Given the description of an element on the screen output the (x, y) to click on. 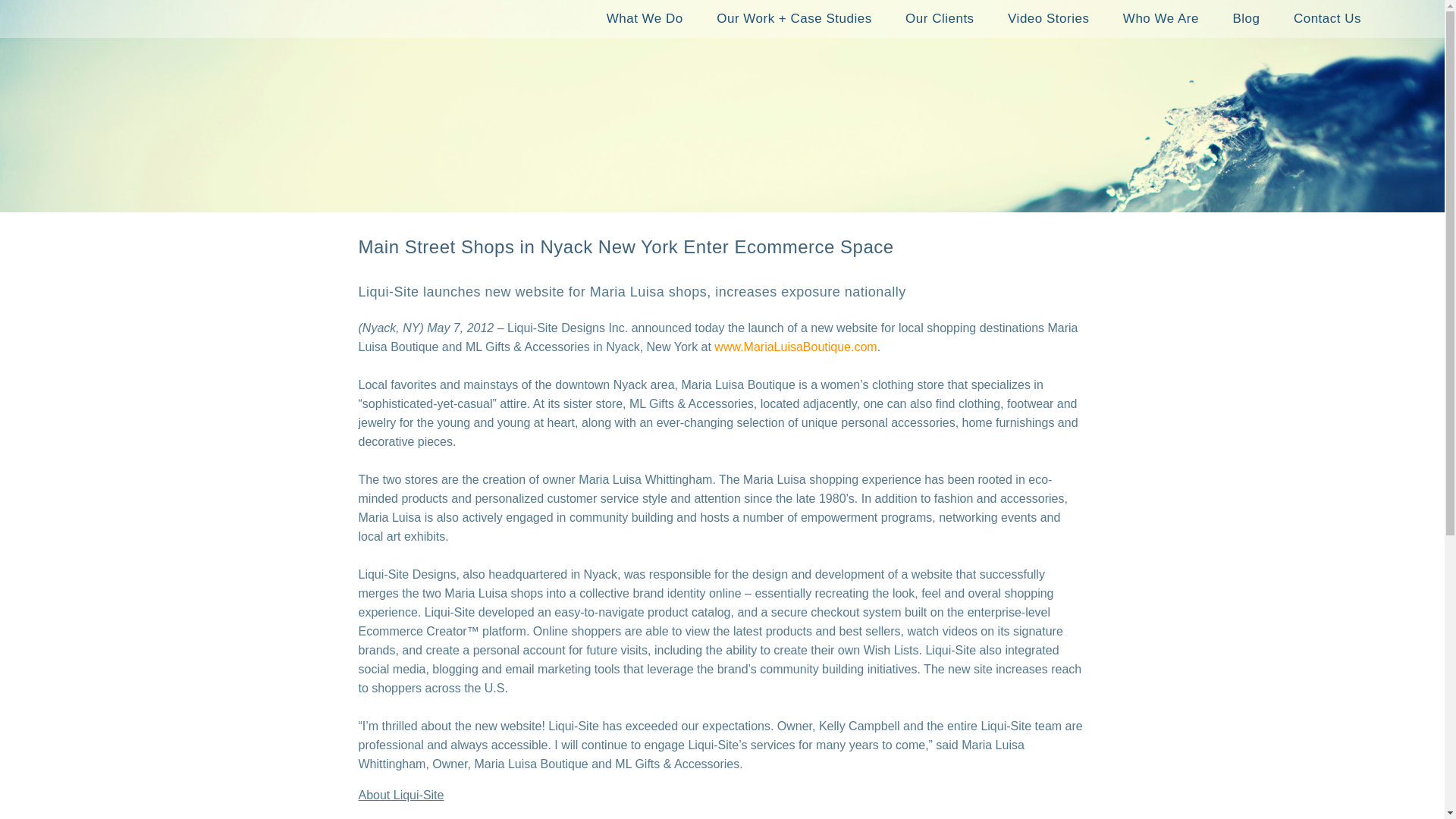
Contact Us (1326, 18)
Blog (1246, 18)
What We Do (644, 18)
Who We Are (1161, 18)
www.MariaLuisaBoutique.com (795, 346)
Our Clients (939, 18)
Main Street Shops in Nyack New York Enter Ecommerce Space (625, 246)
Video Stories (1047, 18)
